Given the description of an element on the screen output the (x, y) to click on. 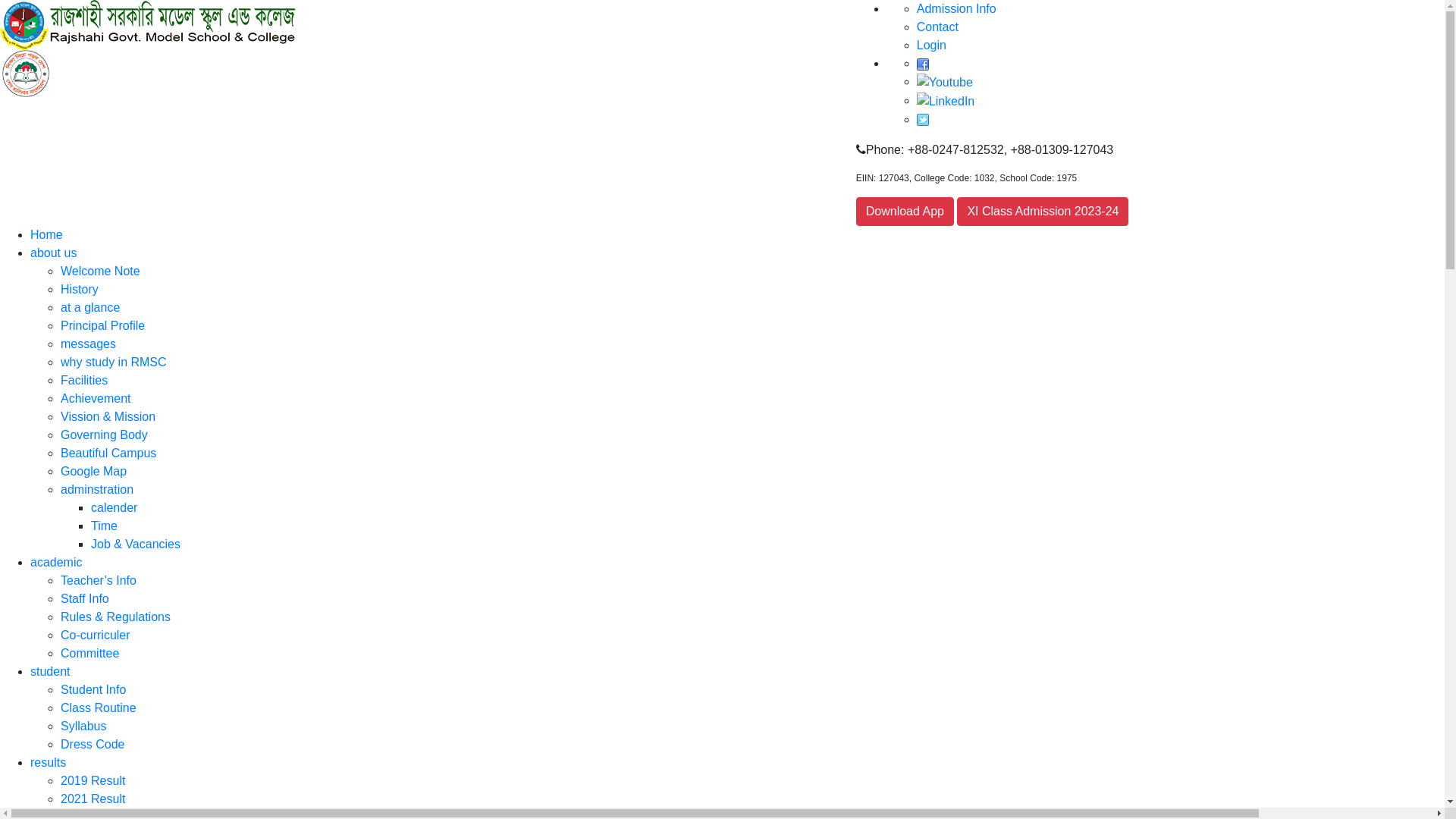
Admission Info Element type: text (956, 8)
Syllabus Element type: text (83, 725)
Rules & Regulations Element type: text (115, 616)
Governing Body Element type: text (103, 434)
Time Element type: text (104, 525)
Principal Profile Element type: text (102, 325)
Student Info Element type: text (92, 689)
calender Element type: text (114, 507)
Home Element type: text (46, 234)
Achievement Element type: text (95, 398)
Committee Element type: text (89, 652)
Co-curriculer Element type: text (95, 634)
XI Class Admission 2023-24 Element type: text (1042, 211)
why study in RMSC Element type: text (113, 361)
results Element type: text (47, 762)
2021 Result Element type: text (92, 798)
Beautiful Campus Element type: text (108, 452)
at a glance Element type: text (89, 307)
Staff Info Element type: text (84, 598)
Download App Element type: text (904, 211)
2019 Result Element type: text (92, 780)
Contact Element type: text (937, 26)
Dress Code Element type: text (92, 743)
Vission & Mission Element type: text (107, 416)
Class Routine Element type: text (98, 707)
messages Element type: text (88, 343)
adminstration Element type: text (96, 489)
student Element type: text (49, 671)
academic Element type: text (55, 561)
Job & Vacancies Element type: text (135, 543)
Facilities Element type: text (83, 379)
History Element type: text (79, 288)
about us Element type: text (53, 252)
Login Element type: text (931, 44)
Google Map Element type: text (93, 470)
Welcome Note Element type: text (100, 270)
